Given the description of an element on the screen output the (x, y) to click on. 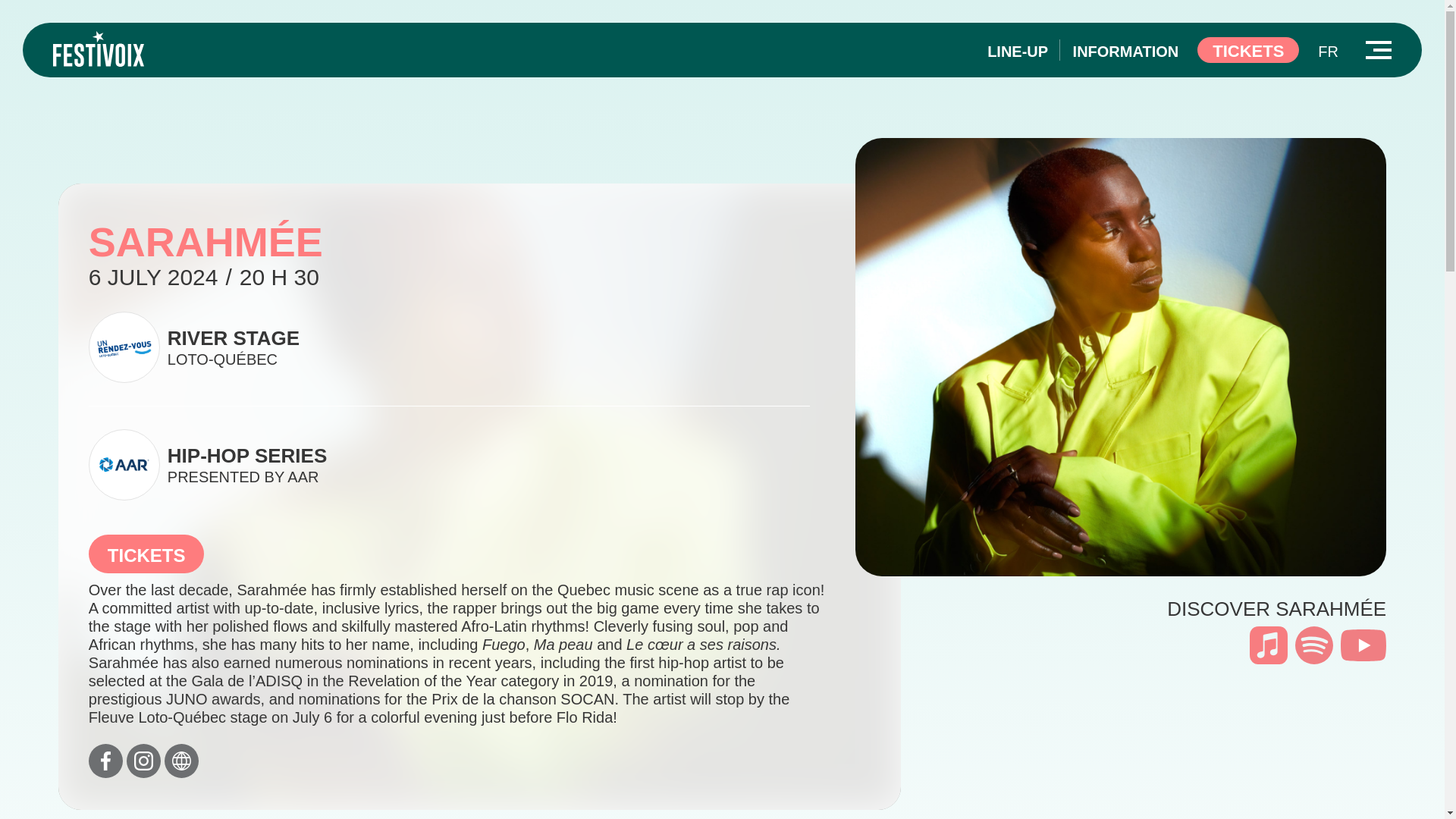
FR (1327, 51)
TICKETS (146, 553)
INFORMATION (448, 464)
TICKETS (1126, 51)
LINE-UP (1247, 49)
FR (1017, 51)
